Given the description of an element on the screen output the (x, y) to click on. 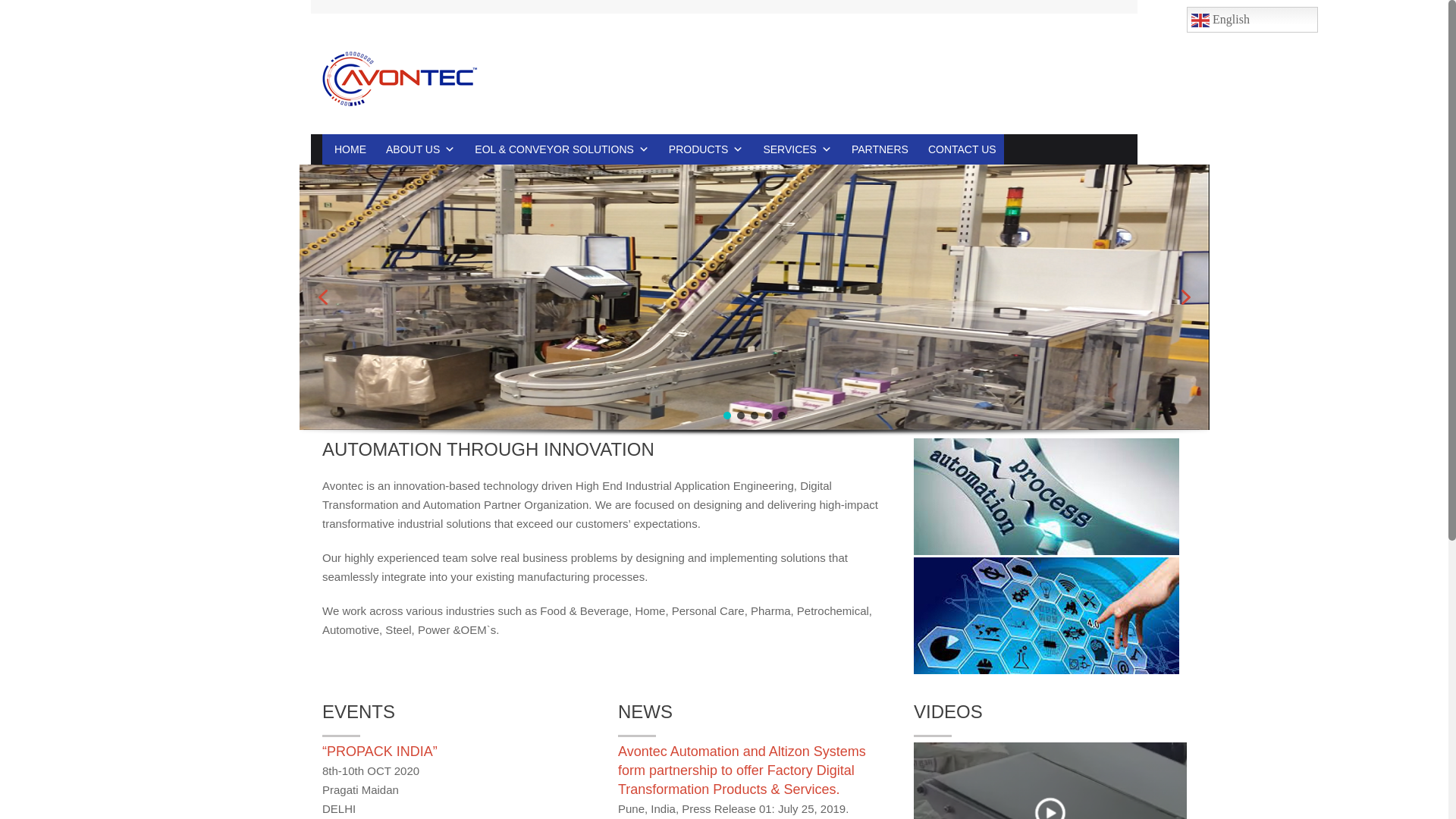
homepage-image4-e1569167235109 (1046, 615)
ABOUT US (418, 149)
HOME (347, 149)
English (1251, 19)
homepage-image4-1-e1569167212871 (1046, 496)
PRODUCTS (703, 149)
